Given the description of an element on the screen output the (x, y) to click on. 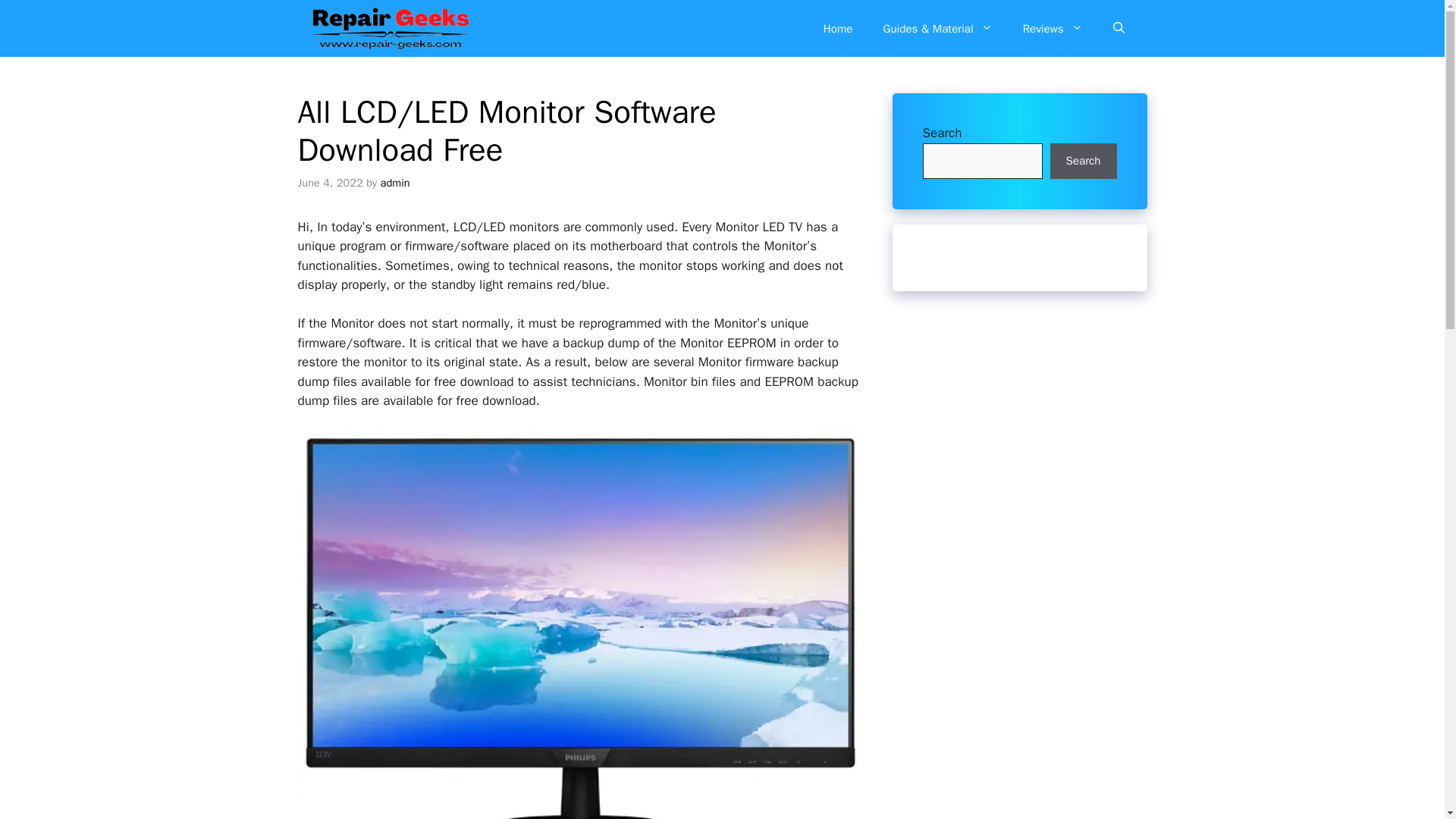
admin (395, 182)
View all posts by admin (395, 182)
Repair Geeks (389, 28)
Reviews (1052, 28)
Home (837, 28)
Search (1082, 160)
